Given the description of an element on the screen output the (x, y) to click on. 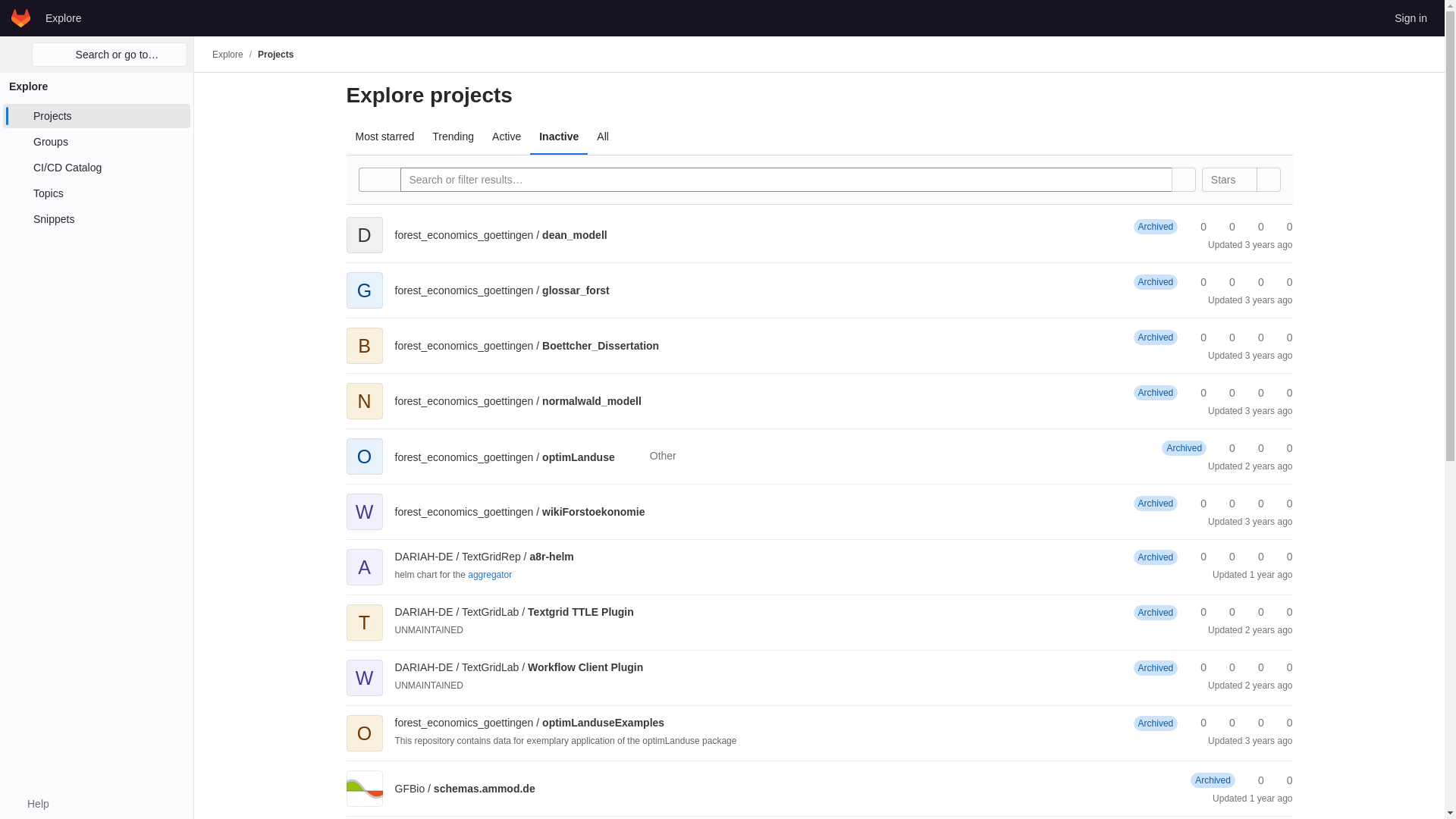
Sign in (1410, 17)
Issues (1282, 227)
Stars (1196, 227)
Trending (453, 135)
Merge requests (1253, 227)
0 (1224, 227)
Projects (96, 115)
Active (506, 135)
Projects (275, 54)
Most starred (384, 135)
